Given the description of an element on the screen output the (x, y) to click on. 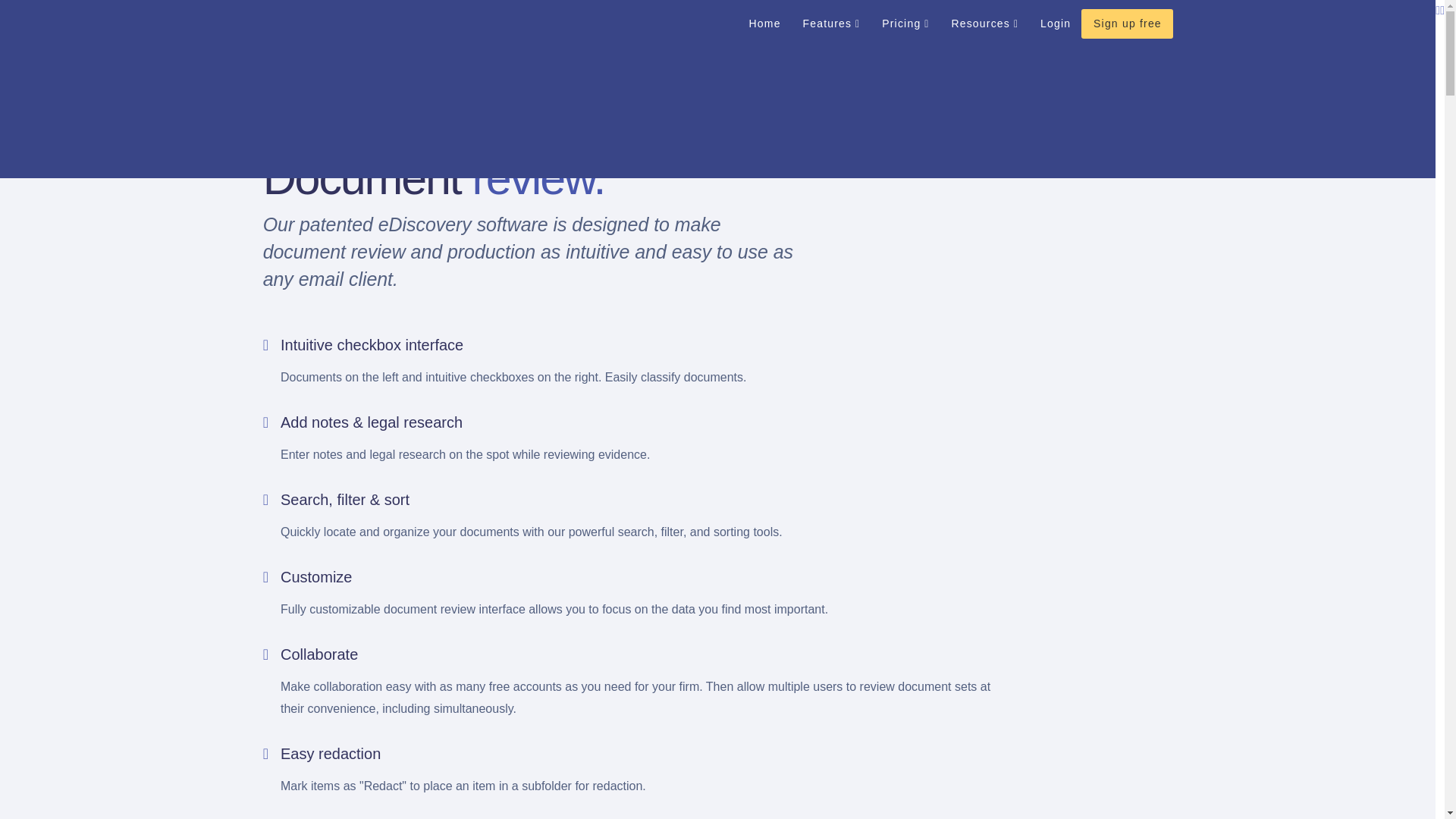
Pricing (904, 22)
Sign up free (1127, 23)
Login (1055, 22)
Features (830, 22)
Resources (984, 22)
Home (765, 22)
